Given the description of an element on the screen output the (x, y) to click on. 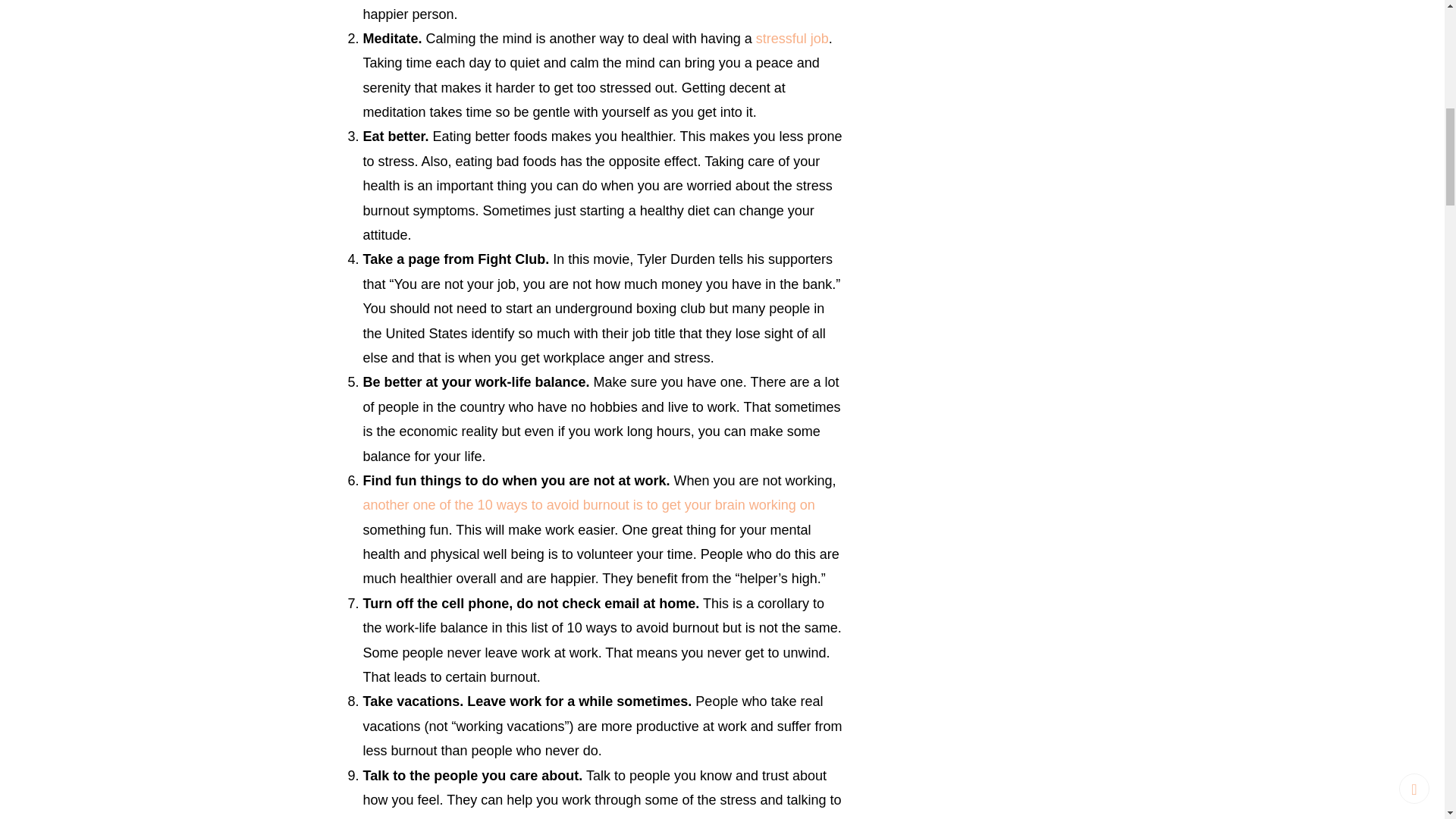
stressful job (791, 38)
5 stages of burnout, 10 ways to avoid burnout (587, 504)
How to deal with burnout at work (791, 38)
